Given the description of an element on the screen output the (x, y) to click on. 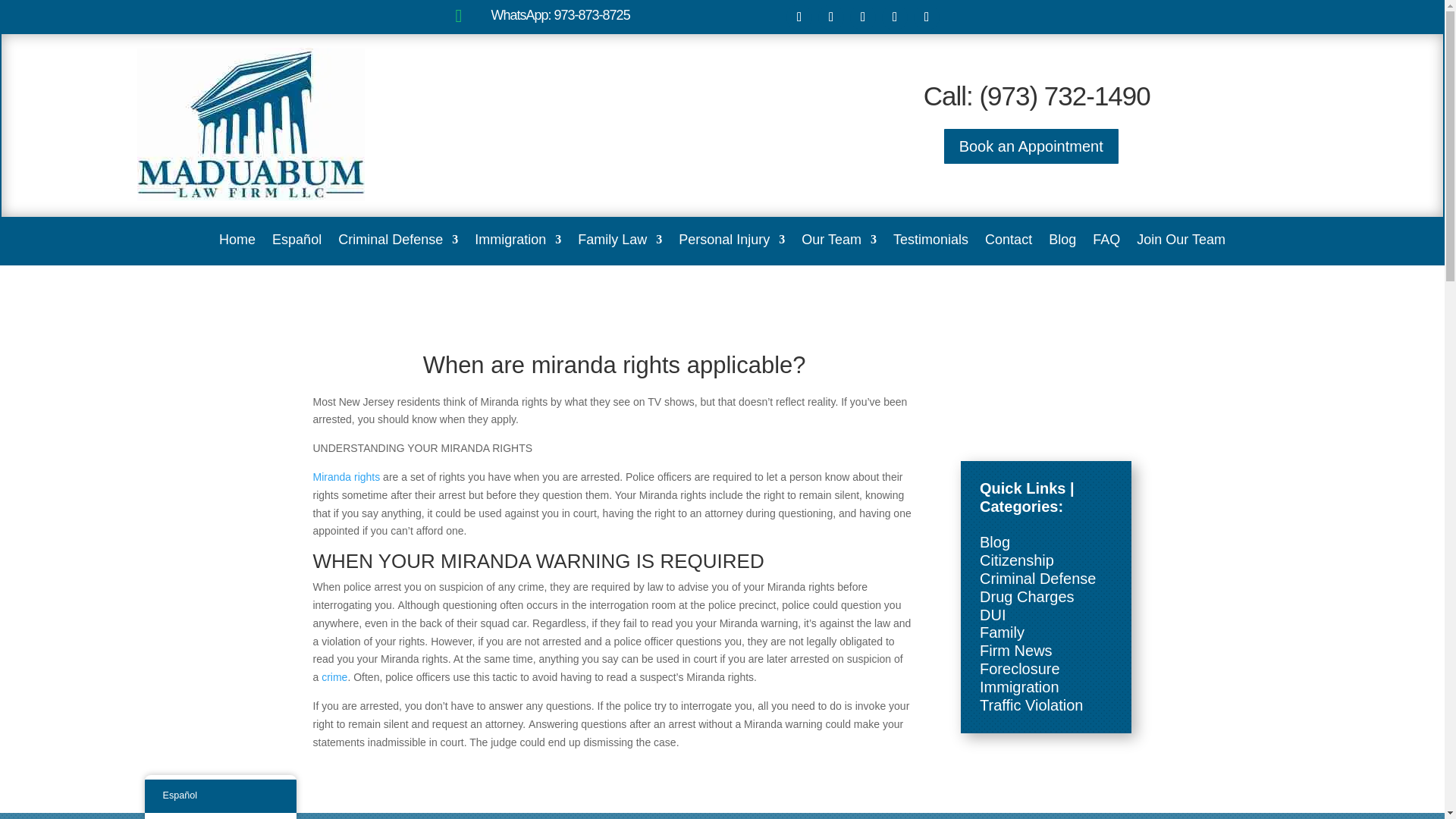
Immigration (517, 242)
Follow on X (831, 17)
973-873-8725 (592, 14)
Follow on Instagram (894, 17)
Follow on Youtube (926, 17)
Our Team (839, 242)
MADUABUM LAW FIRM LLC-FF-01 (250, 123)
Follow on Facebook (799, 17)
Home (237, 242)
Book an Appointment (1030, 146)
Personal Injury (731, 242)
Criminal Defense Attorney (397, 242)
Homepage (237, 242)
Follow on LinkedIn (863, 17)
Criminal Defense (397, 242)
